Given the description of an element on the screen output the (x, y) to click on. 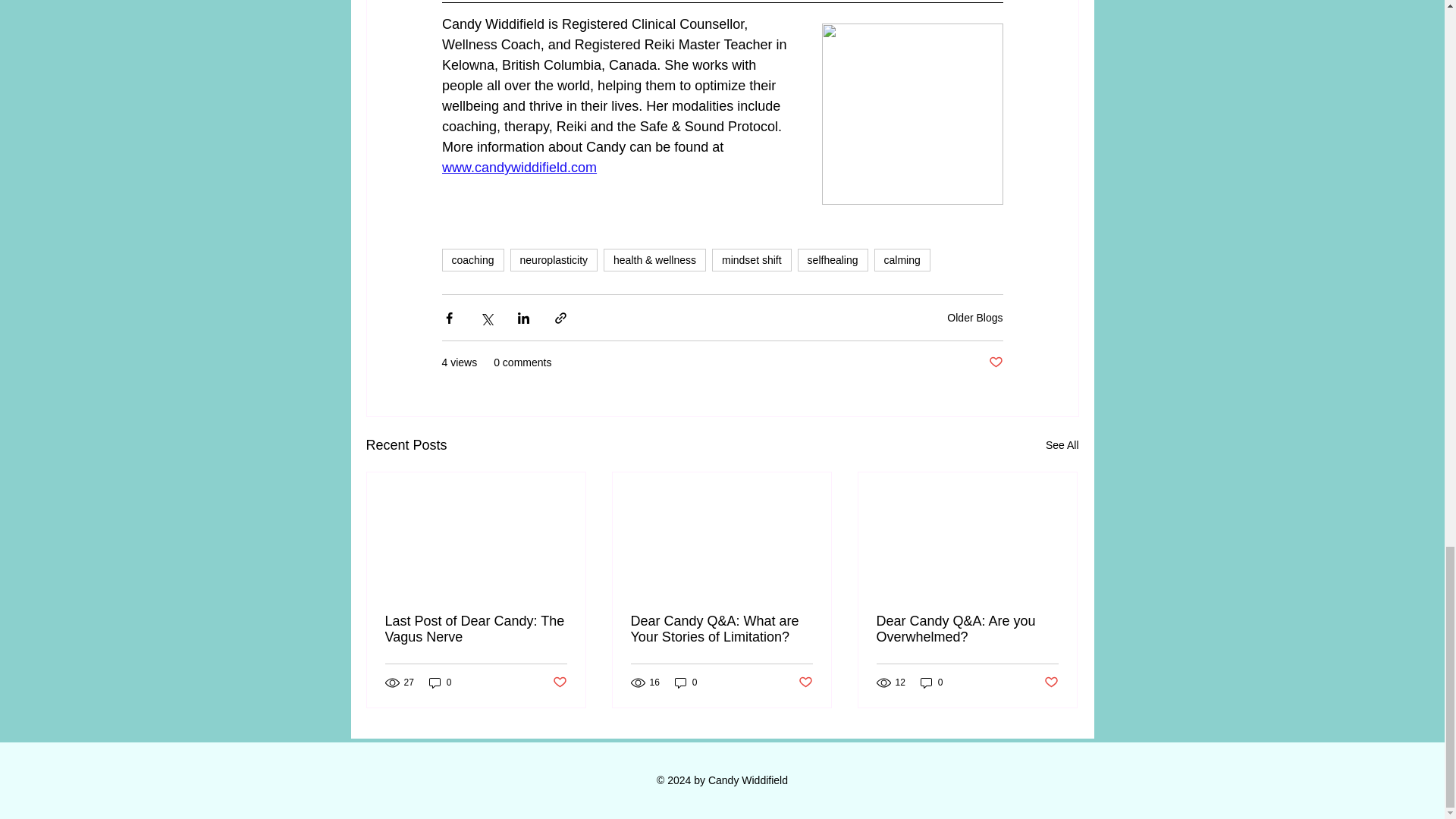
Last Post of Dear Candy: The Vagus Nerve (476, 629)
See All (1061, 445)
Older Blogs (975, 317)
Post not marked as liked (804, 682)
Post not marked as liked (558, 682)
coaching (472, 259)
mindset shift (751, 259)
0 (440, 682)
neuroplasticity (554, 259)
www.candywiddifield.com (518, 167)
